Given the description of an element on the screen output the (x, y) to click on. 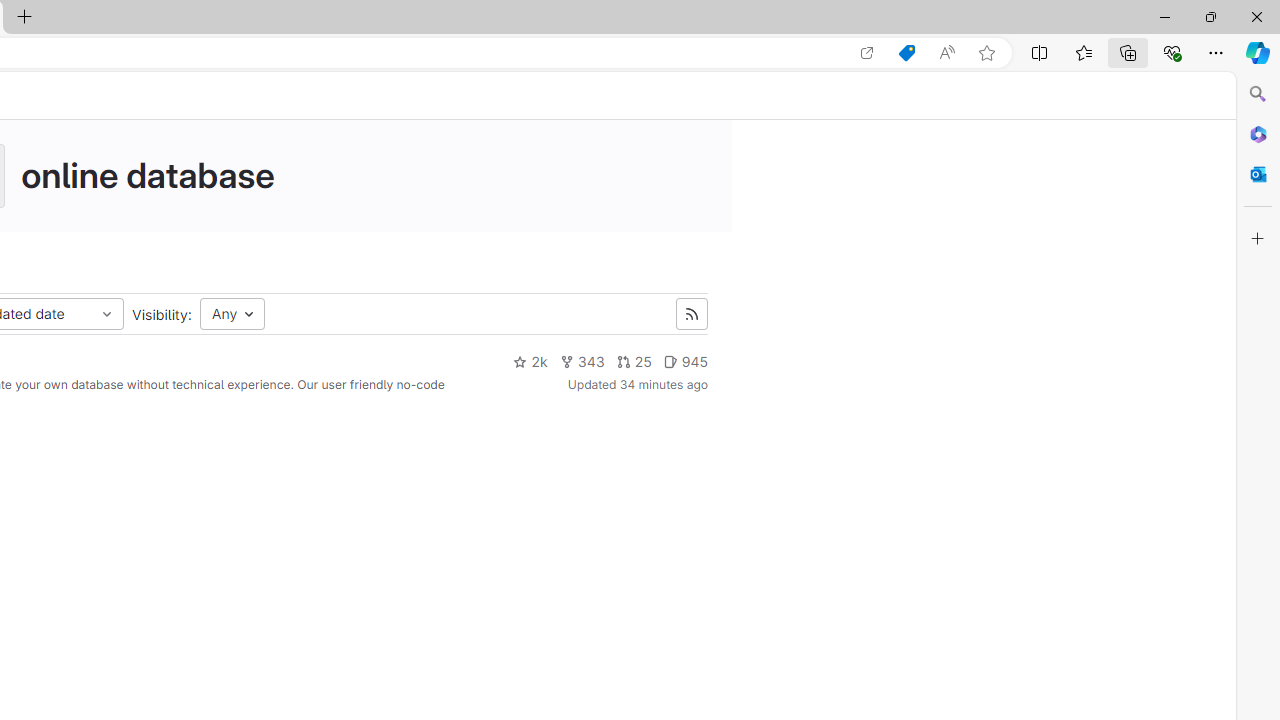
Class: s16 dropdown-menu-toggle-icon (106, 314)
25 (633, 361)
343 (582, 361)
Open in app (867, 53)
Class: s14 gl-mr-2 (670, 361)
Subscribe to the new projects feed (691, 314)
Class: s16 gl-icon gl-button-icon  (691, 314)
